Given the description of an element on the screen output the (x, y) to click on. 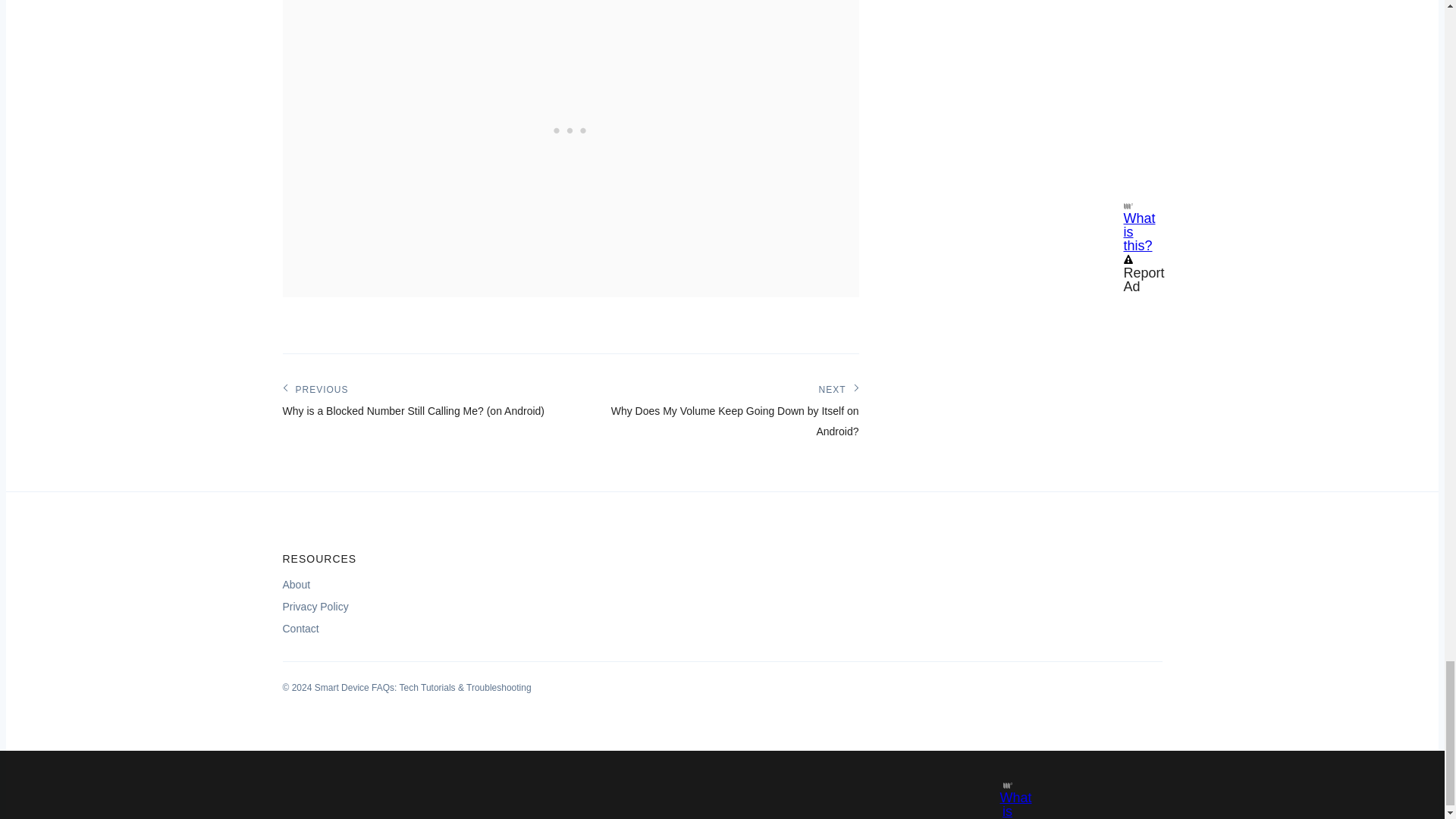
Contact (300, 628)
About (296, 584)
Privacy Policy (314, 605)
